Given the description of an element on the screen output the (x, y) to click on. 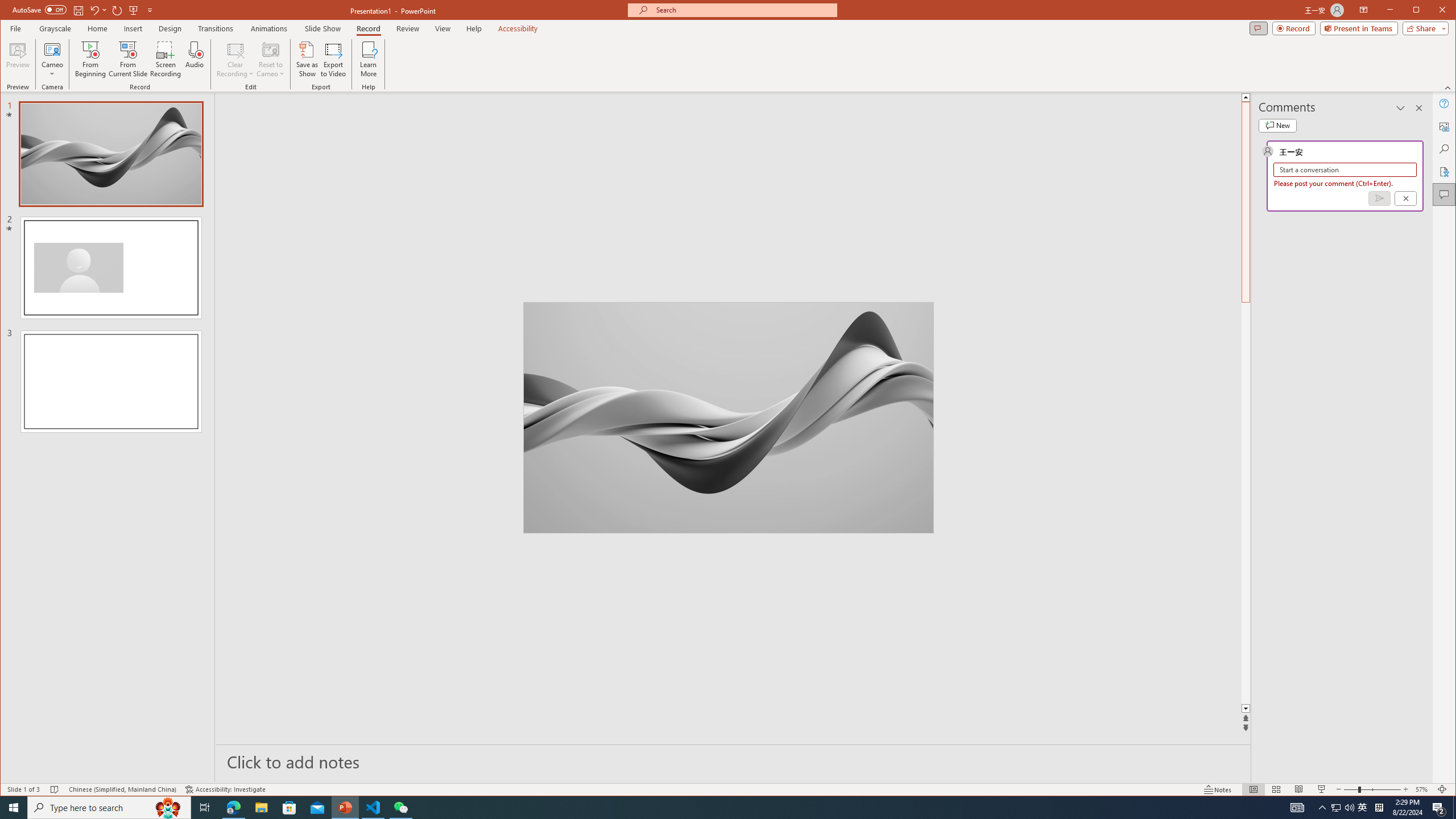
From Current Slide... (127, 59)
Wavy 3D art (728, 417)
